Given the description of an element on the screen output the (x, y) to click on. 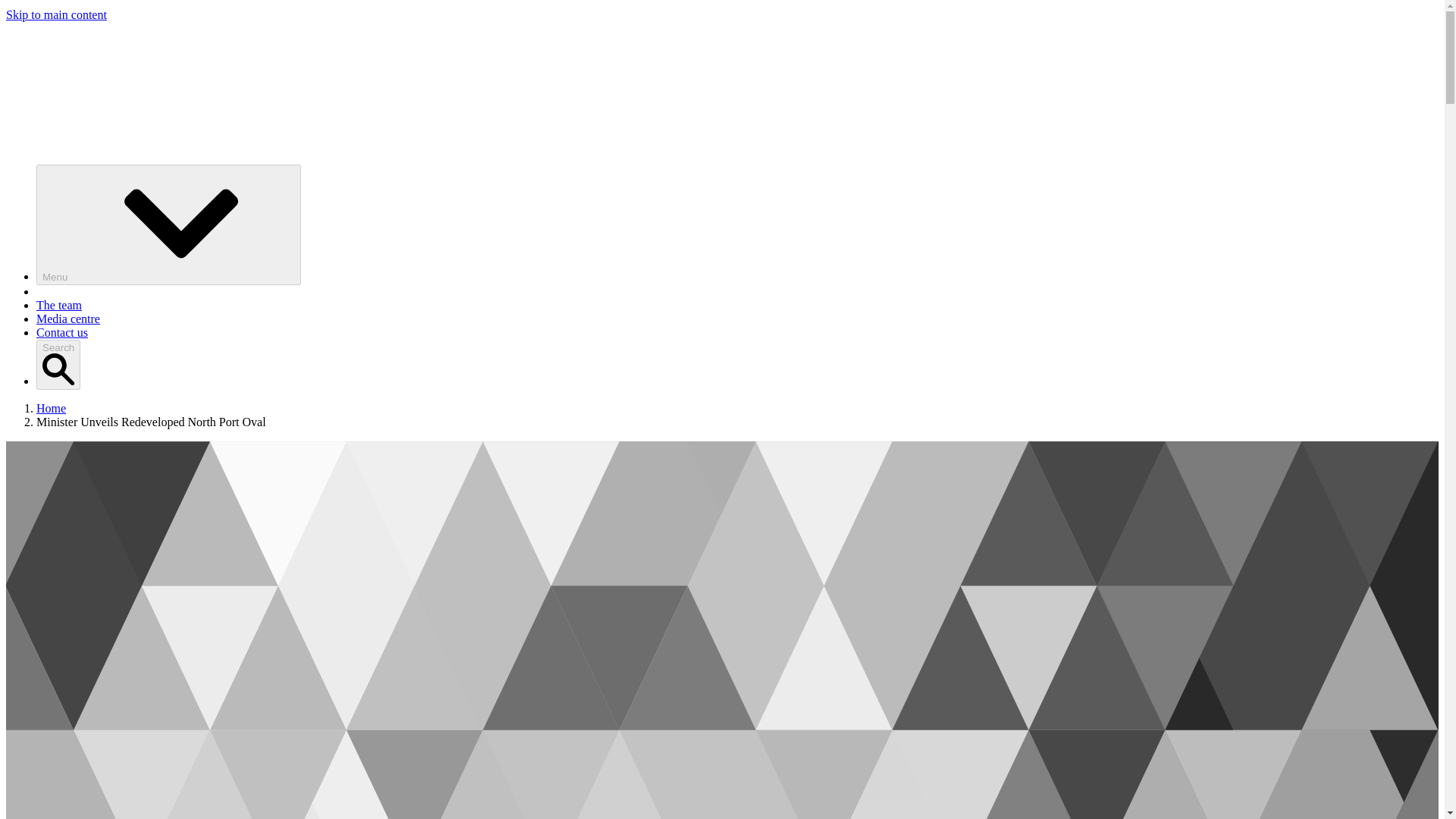
Home (50, 408)
The team (58, 305)
Skip to main content (55, 14)
Media centre (68, 318)
Contact us (61, 332)
